Given the description of an element on the screen output the (x, y) to click on. 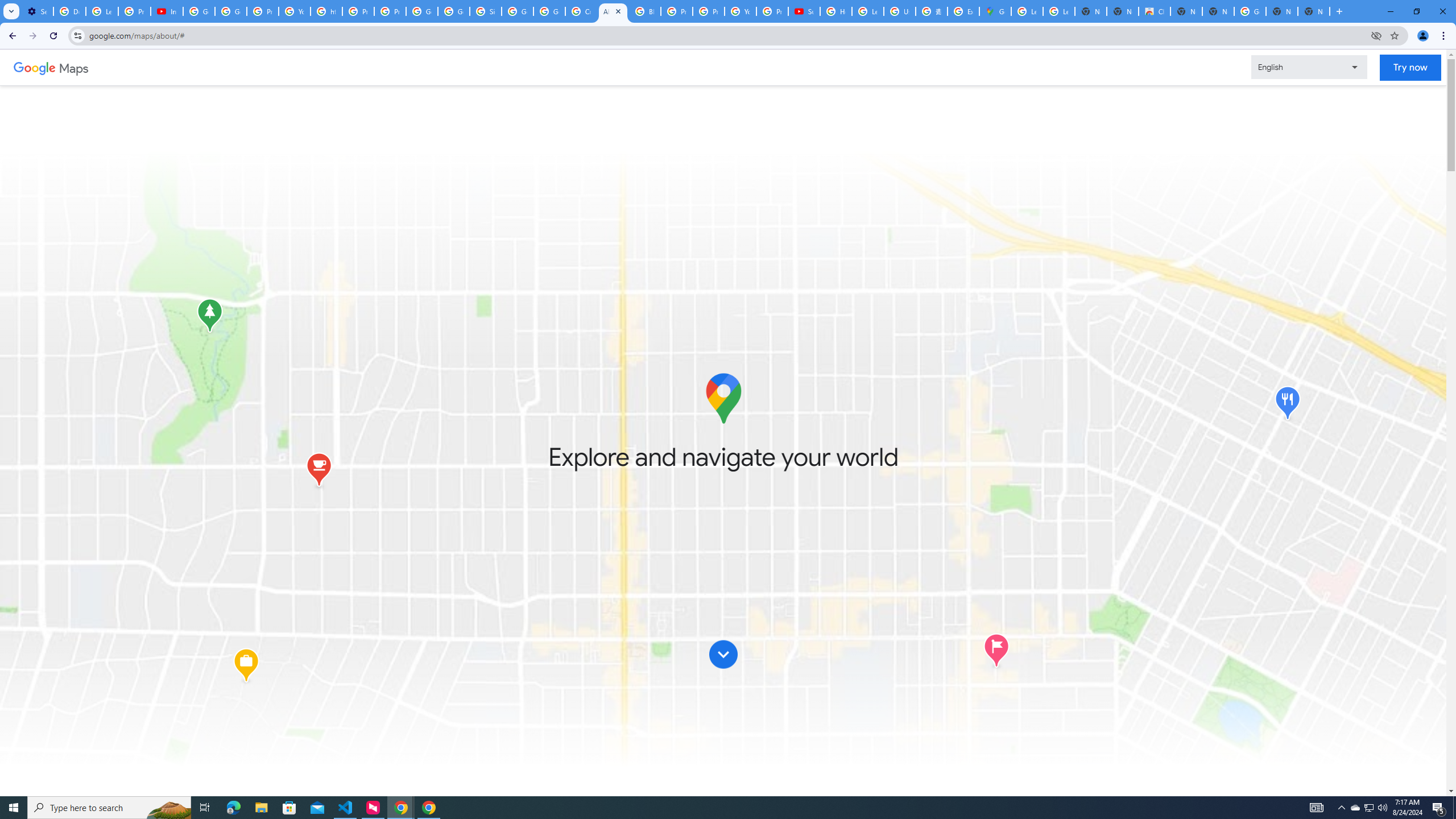
YouTube (294, 11)
Subscriptions - YouTube (804, 11)
Privacy Help Center - Policies Help (358, 11)
How Chrome protects your passwords - Google Chrome Help (836, 11)
YouTube (740, 11)
Settings - Customize profile (37, 11)
Google Maps (995, 11)
